Given the description of an element on the screen output the (x, y) to click on. 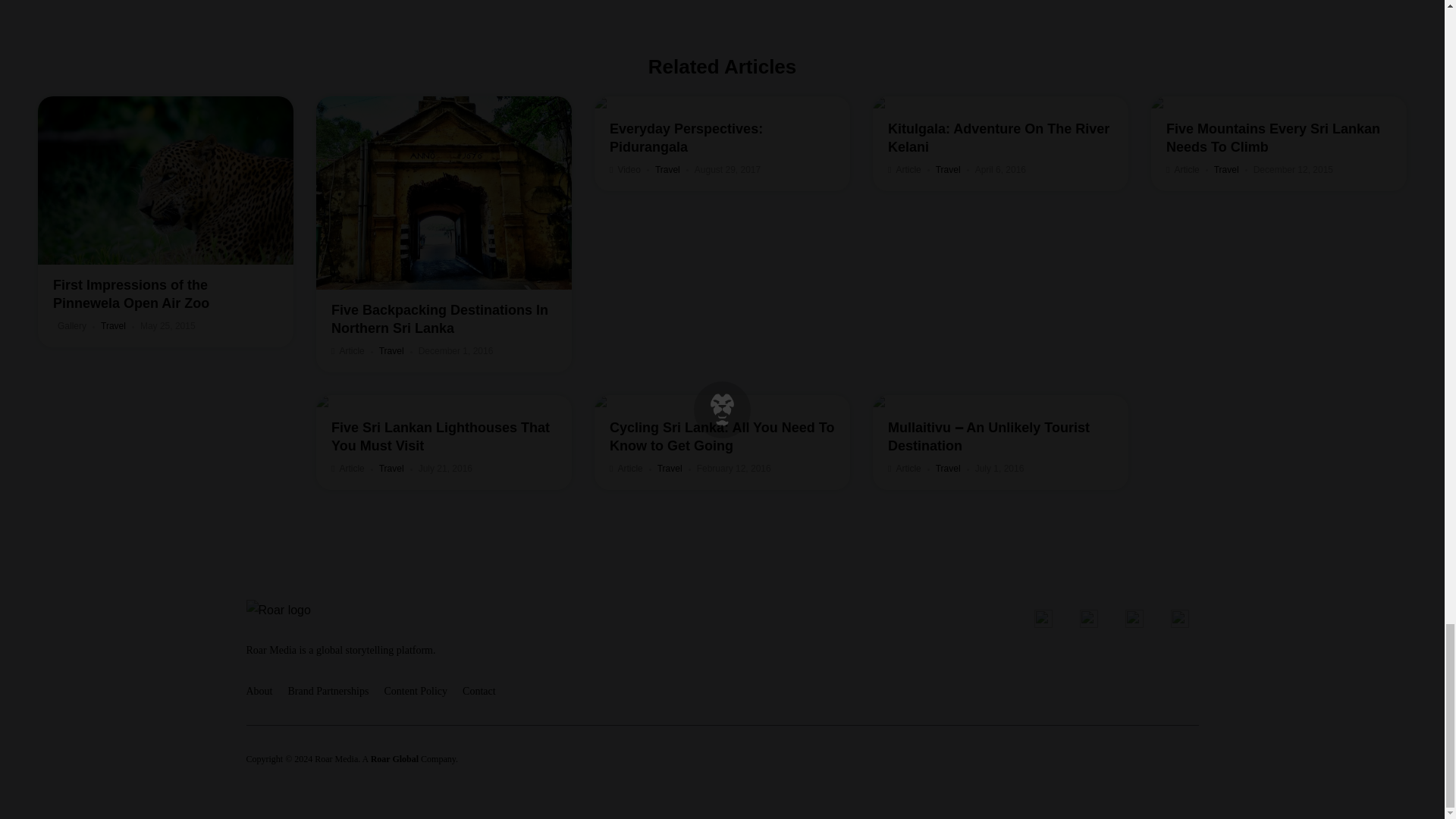
Contact (479, 690)
About (722, 143)
Brand Partnerships (259, 690)
Content Policy (328, 690)
